Given the description of an element on the screen output the (x, y) to click on. 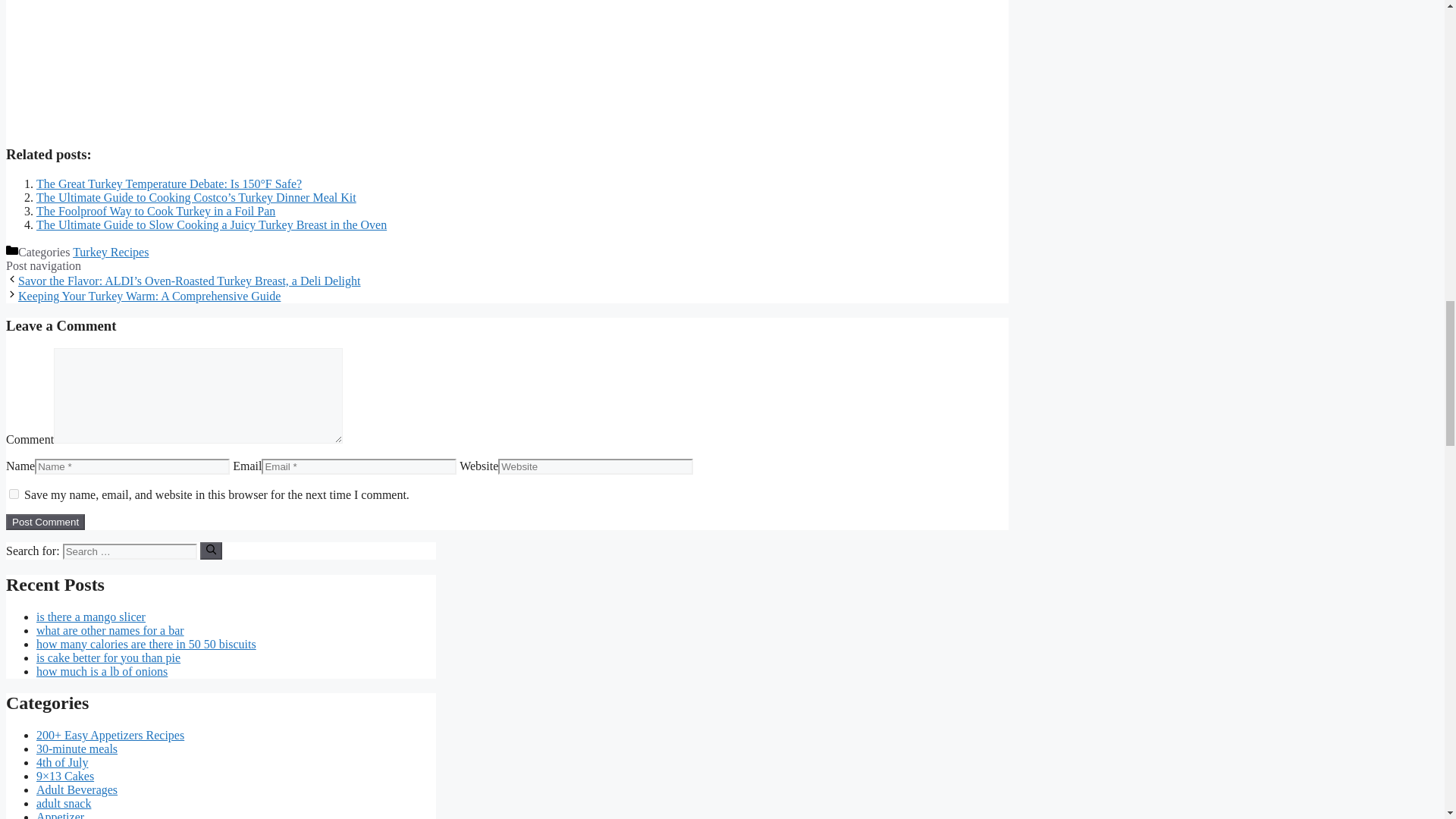
Next (149, 295)
Post Comment (44, 521)
Keeping Your Turkey Warm: A Comprehensive Guide (149, 295)
Turkey Recipes (110, 251)
The Foolproof Way to Cook Turkey in a Foil Pan (155, 210)
Previous (189, 280)
how many calories are there in 50 50 biscuits (146, 644)
adult snack (63, 802)
yes (13, 493)
